Given the description of an element on the screen output the (x, y) to click on. 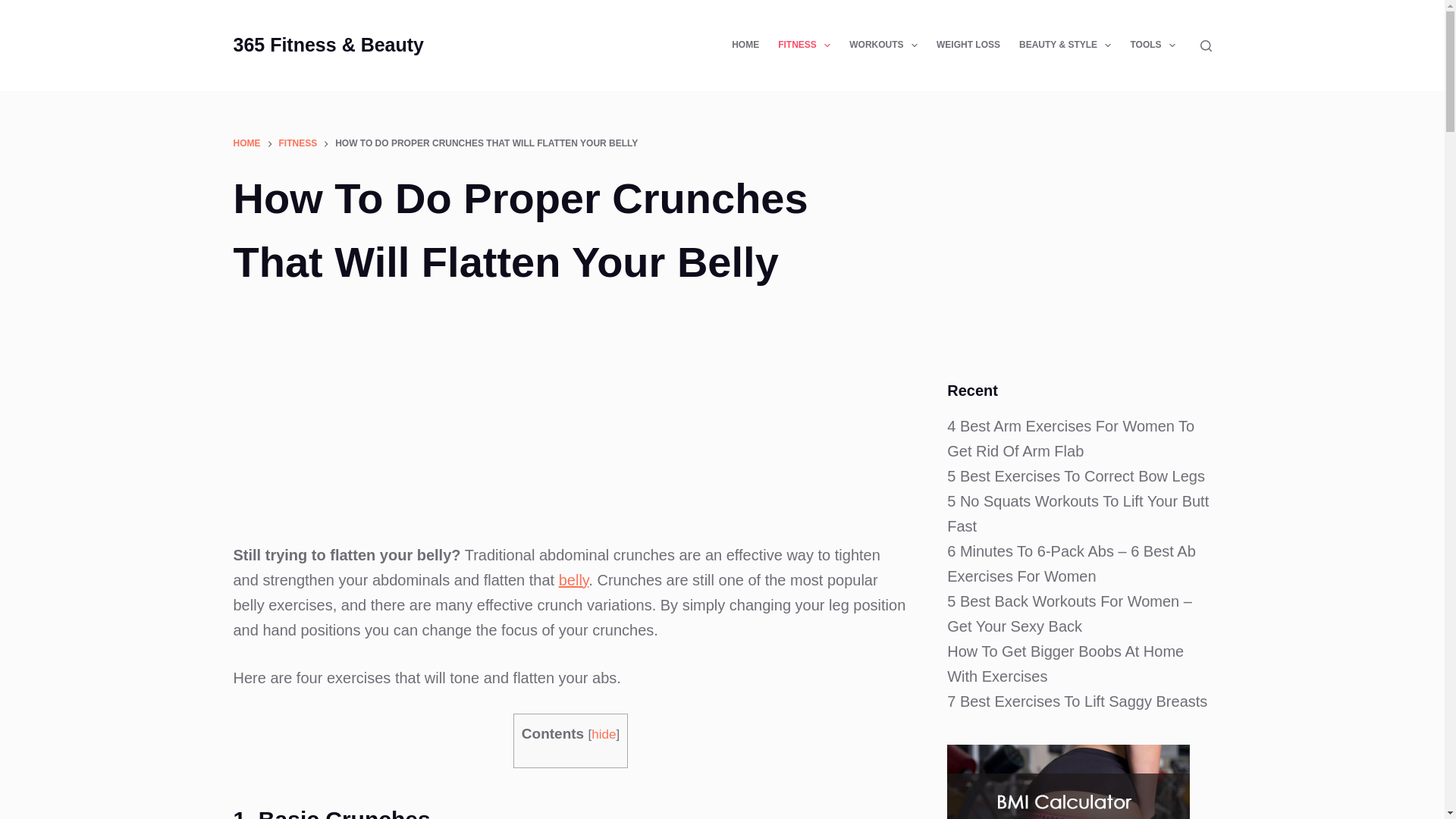
WEIGHT LOSS (967, 45)
WORKOUTS (883, 45)
Skip to content (15, 7)
How To Do Proper Crunches That Will Flatten Your Belly (570, 230)
Advertisement (1079, 242)
